Given the description of an element on the screen output the (x, y) to click on. 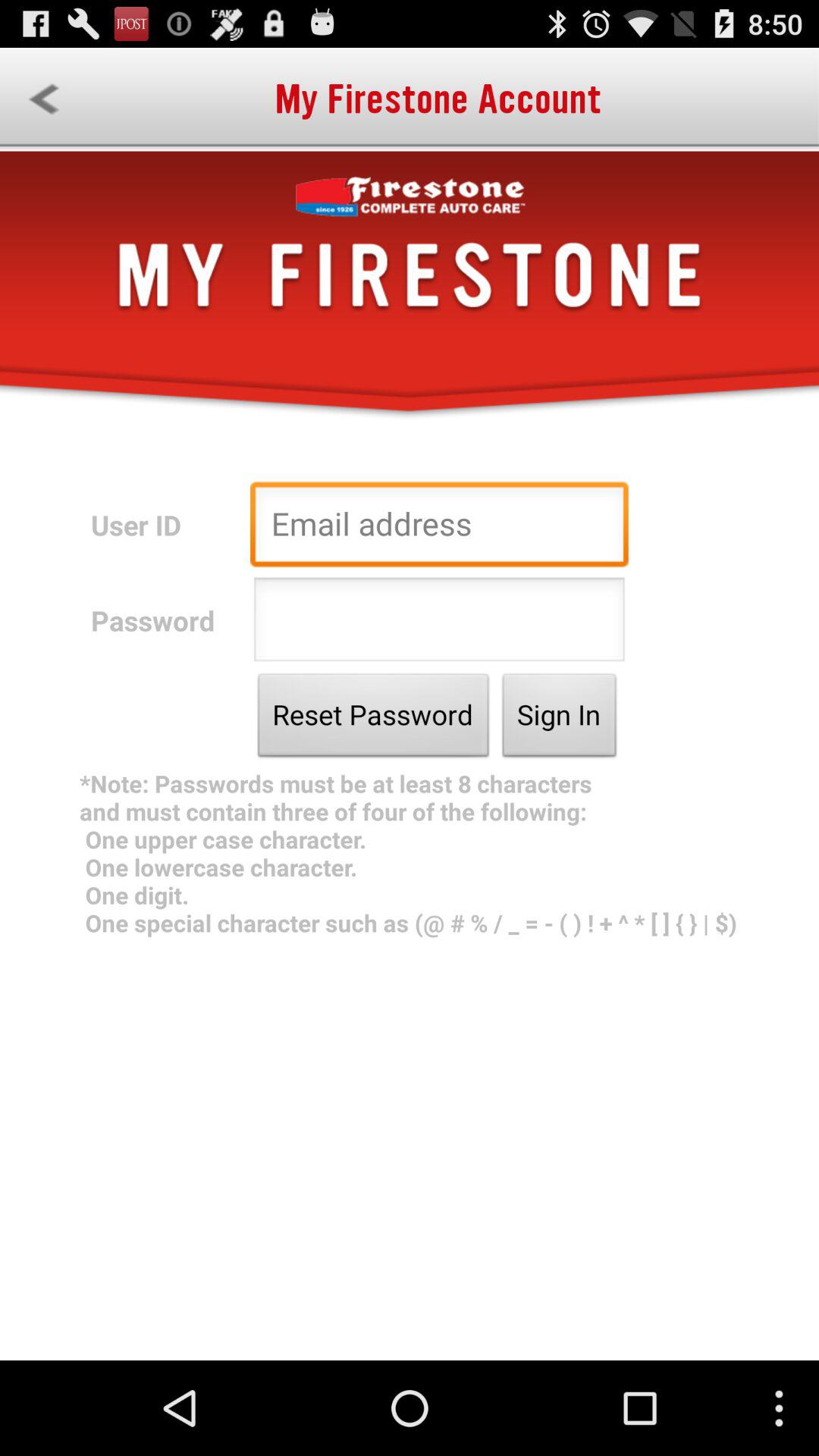
select sign in item (559, 719)
